Given the description of an element on the screen output the (x, y) to click on. 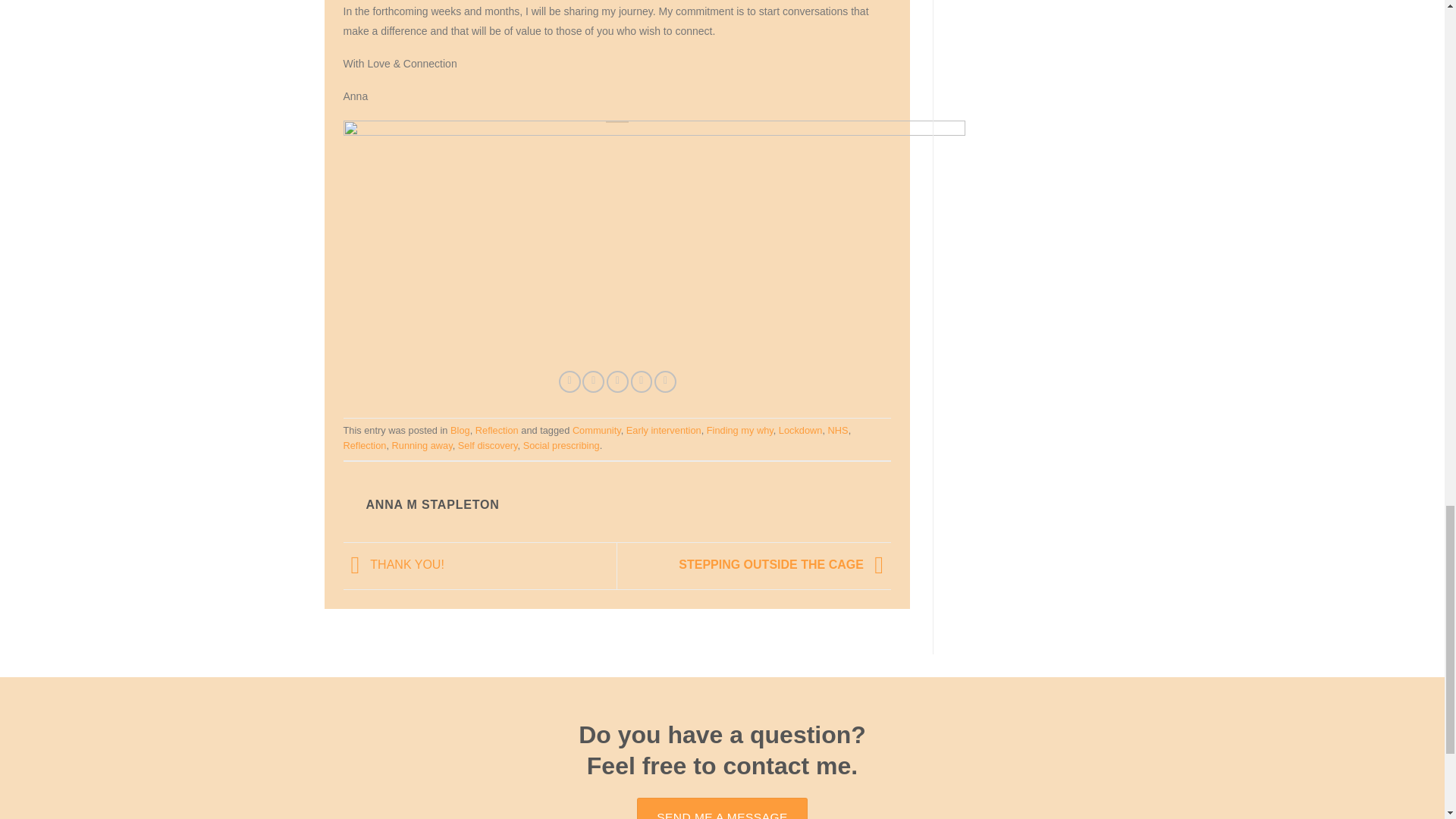
THANK YOU! (393, 563)
Pin on Pinterest (641, 382)
STEPPING OUTSIDE THE CAGE (784, 563)
NHS (838, 430)
Finding my why (739, 430)
Community (596, 430)
Running away (421, 445)
Early intervention (663, 430)
Email to a Friend (617, 382)
Reflection (497, 430)
